Given the description of an element on the screen output the (x, y) to click on. 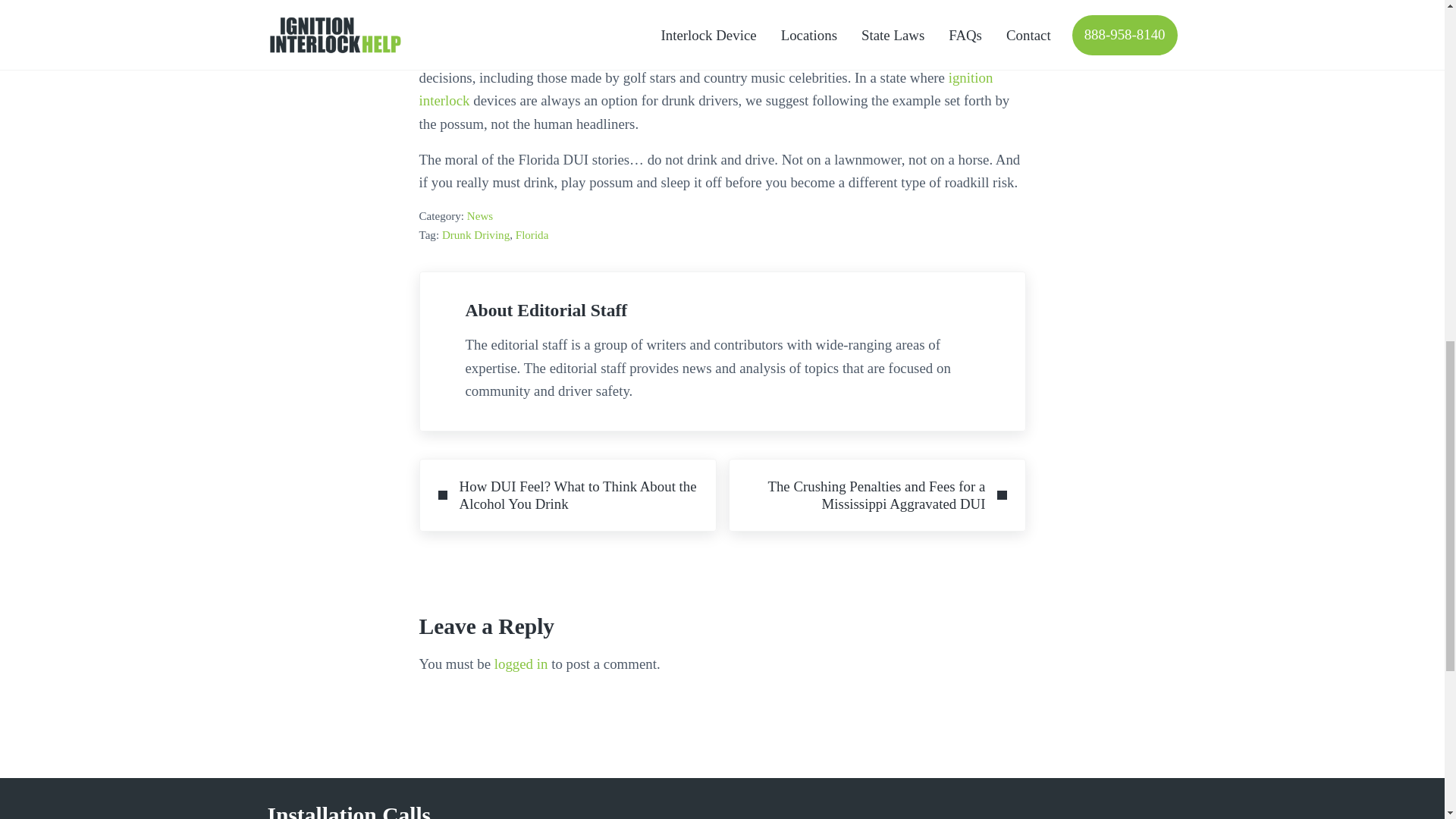
logged in (521, 663)
DUI on a lawnmower (585, 53)
News (480, 215)
Florida (531, 234)
ignition interlock (705, 88)
Drunk Driving (475, 234)
